Given the description of an element on the screen output the (x, y) to click on. 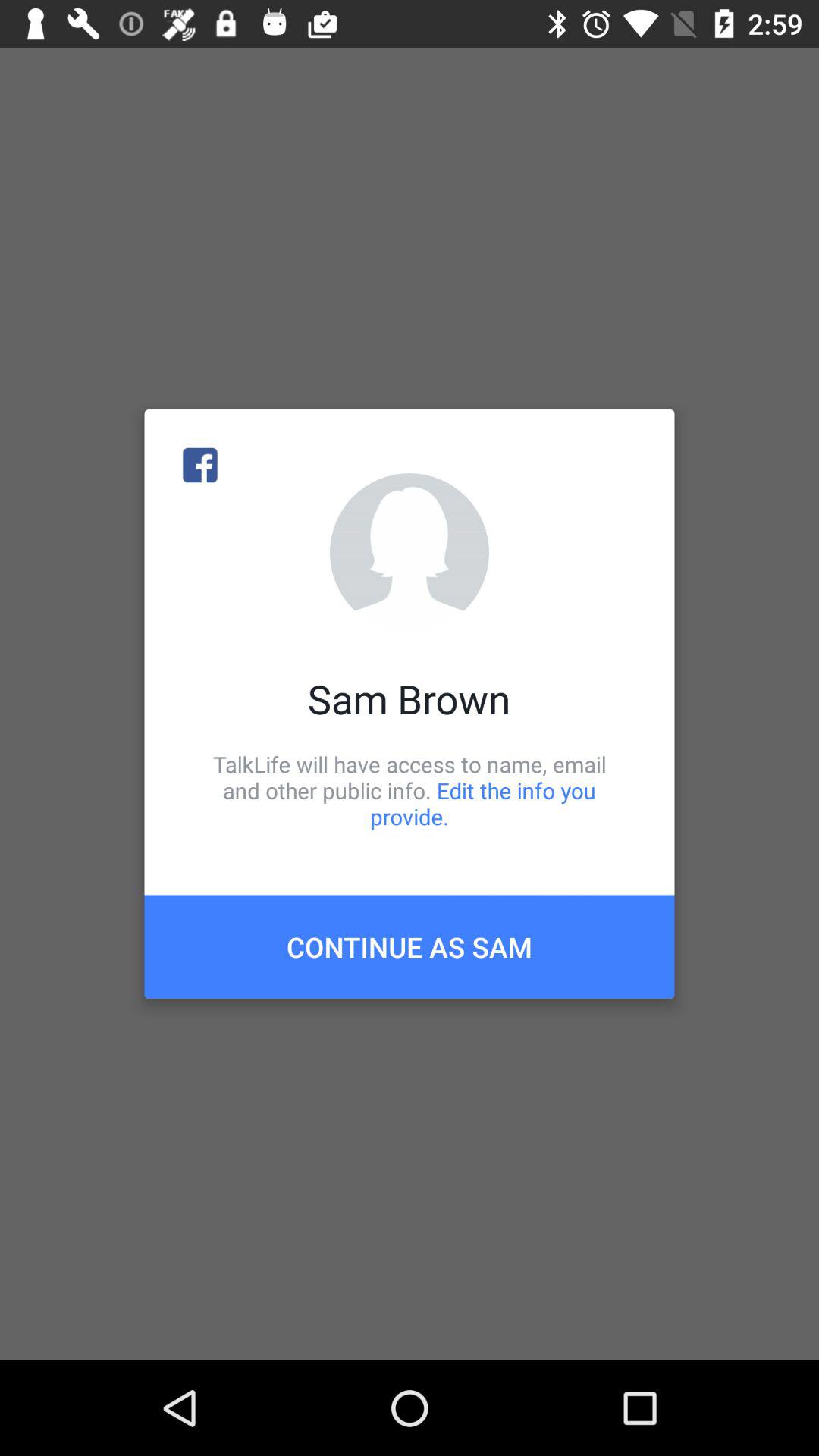
flip to the talklife will have (409, 790)
